Given the description of an element on the screen output the (x, y) to click on. 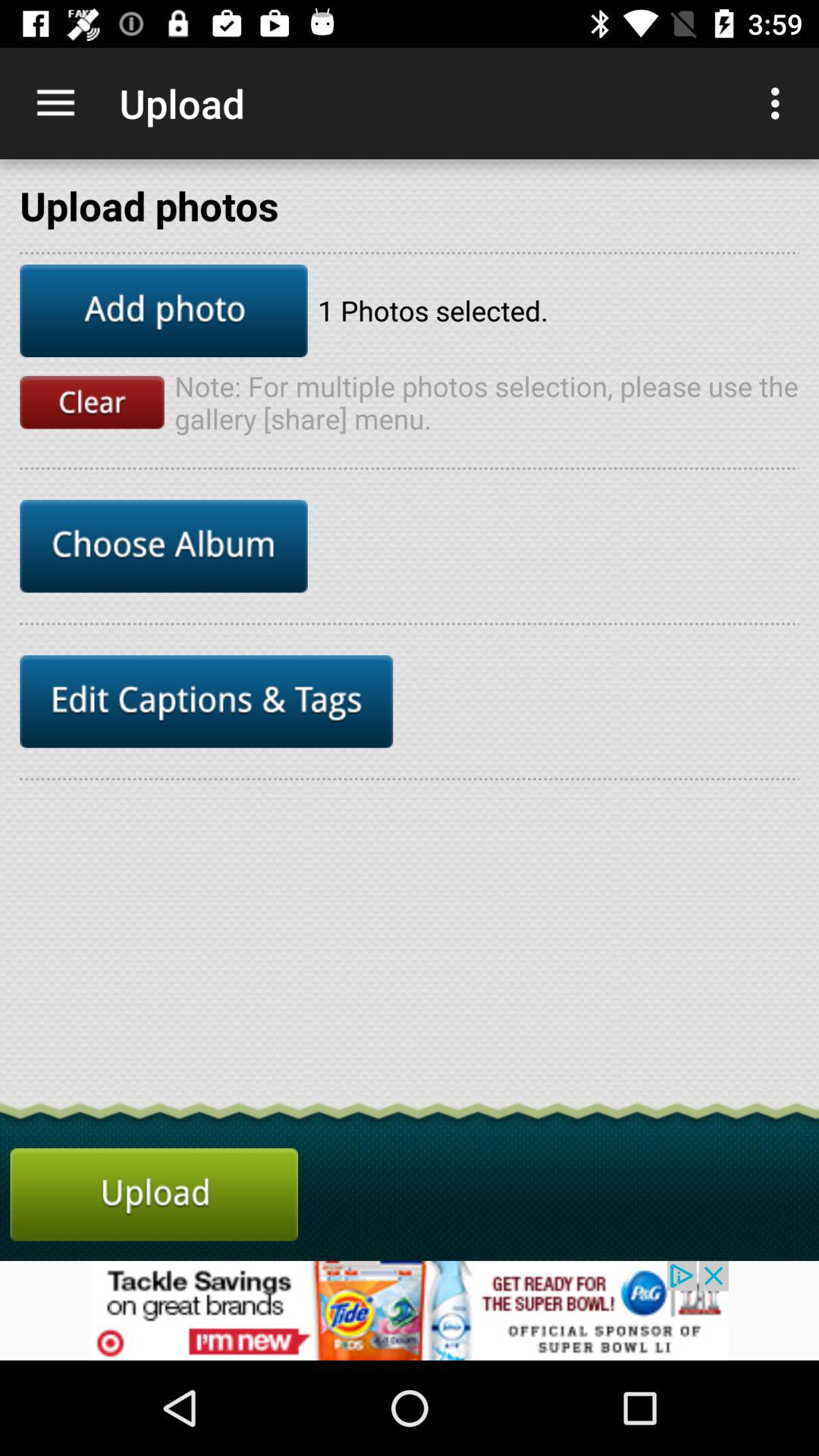
upload photo (154, 1194)
